Given the description of an element on the screen output the (x, y) to click on. 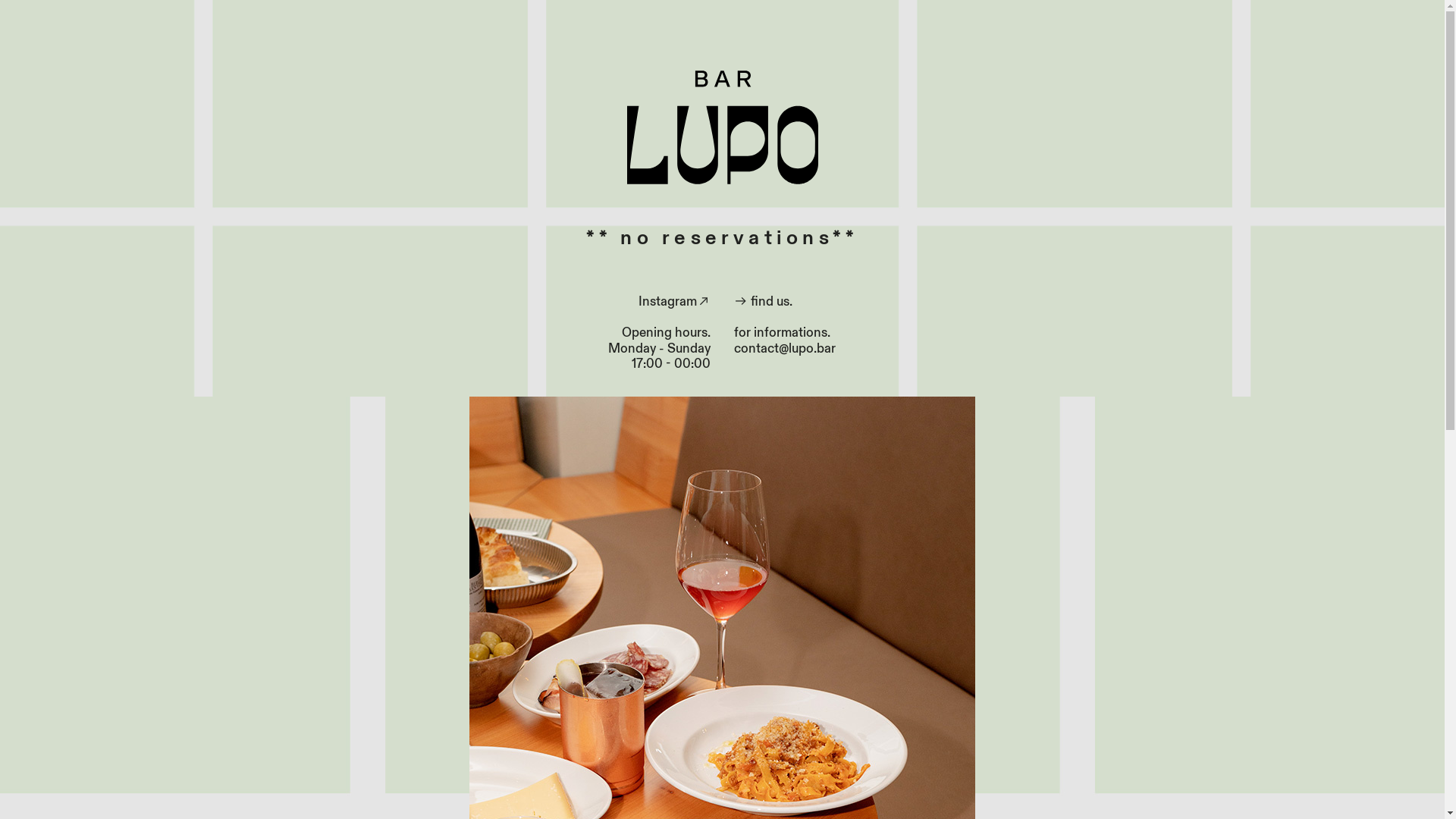
contact@lupo.bar Element type: text (784, 348)
